Given the description of an element on the screen output the (x, y) to click on. 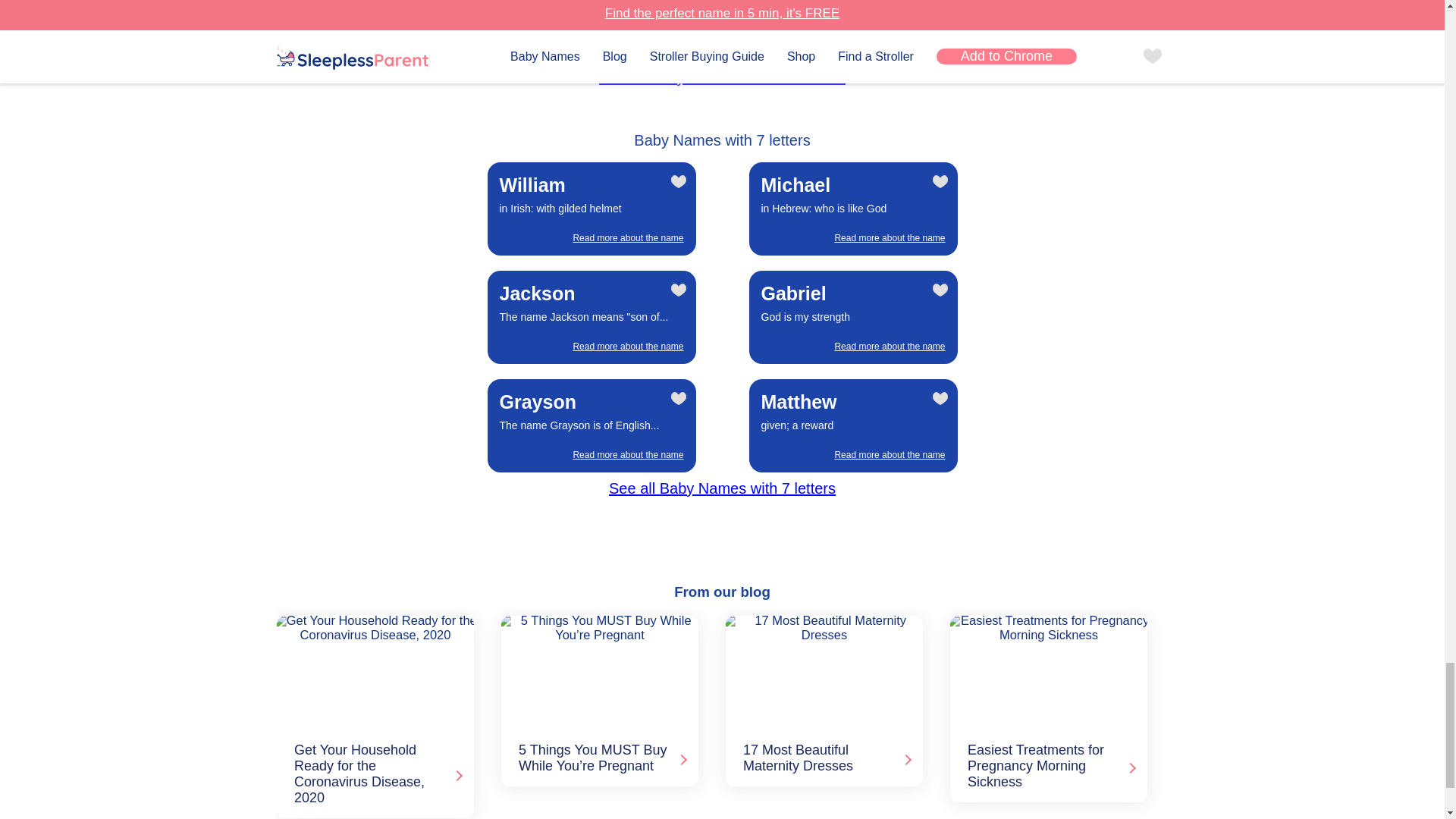
Get Your Household Ready for the Coronavirus Disease, 2020 (371, 671)
Easiest Treatments for Pregnancy Morning Sickness (1045, 671)
17 Most Beautiful Maternity Dresses (821, 671)
